Given the description of an element on the screen output the (x, y) to click on. 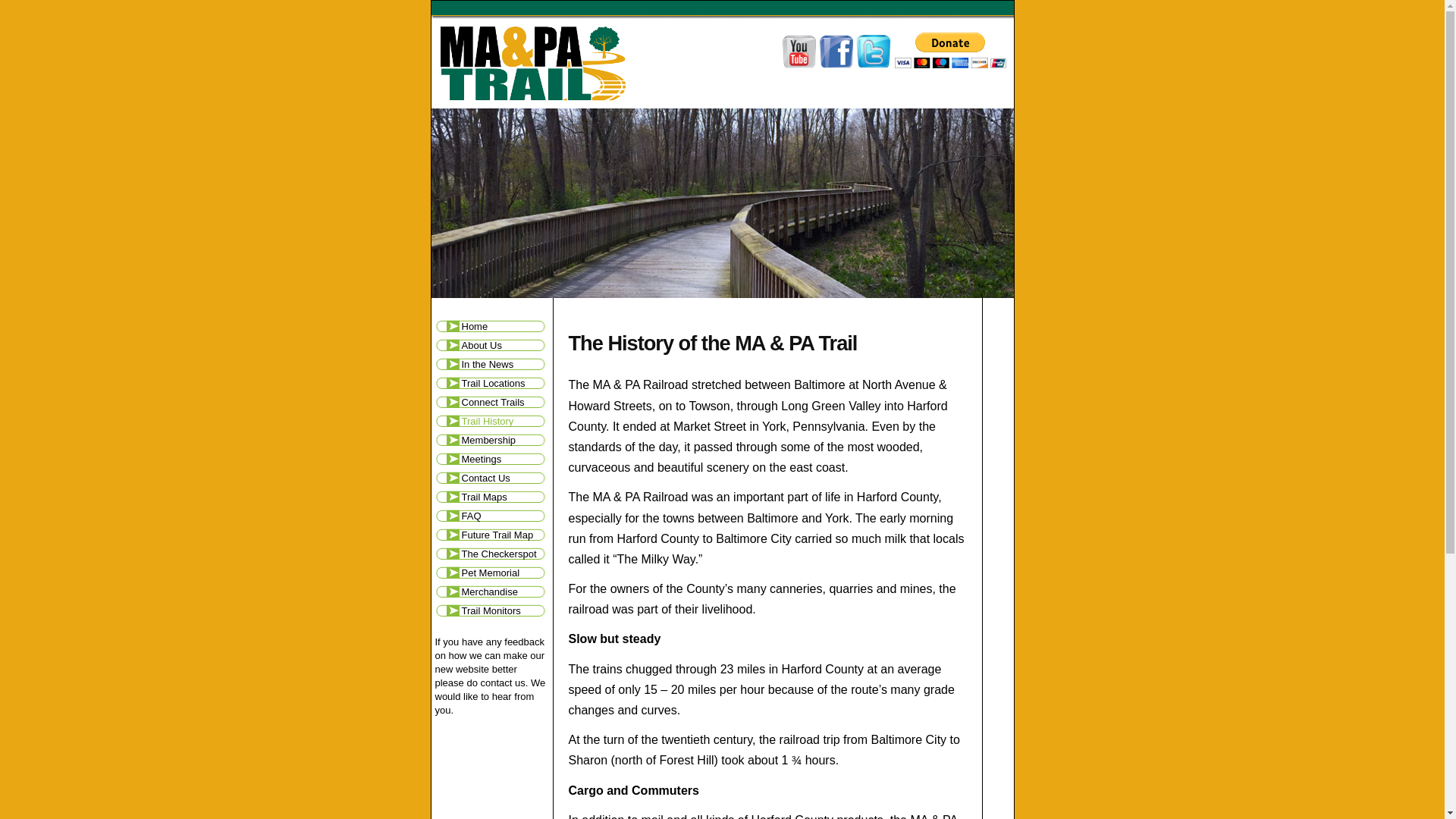
Merchandise (492, 591)
About Us (492, 344)
Meetings (492, 458)
FAQ (492, 515)
Trail Monitors (492, 610)
Pet Memorial (492, 572)
Home (492, 325)
Membership (492, 439)
Trail Maps (492, 496)
The Checkerspot (492, 553)
Contact Us (492, 477)
Future Trail Map (492, 534)
Trail Locations (492, 383)
Trail History (492, 420)
Connect Trails (492, 402)
